Given the description of an element on the screen output the (x, y) to click on. 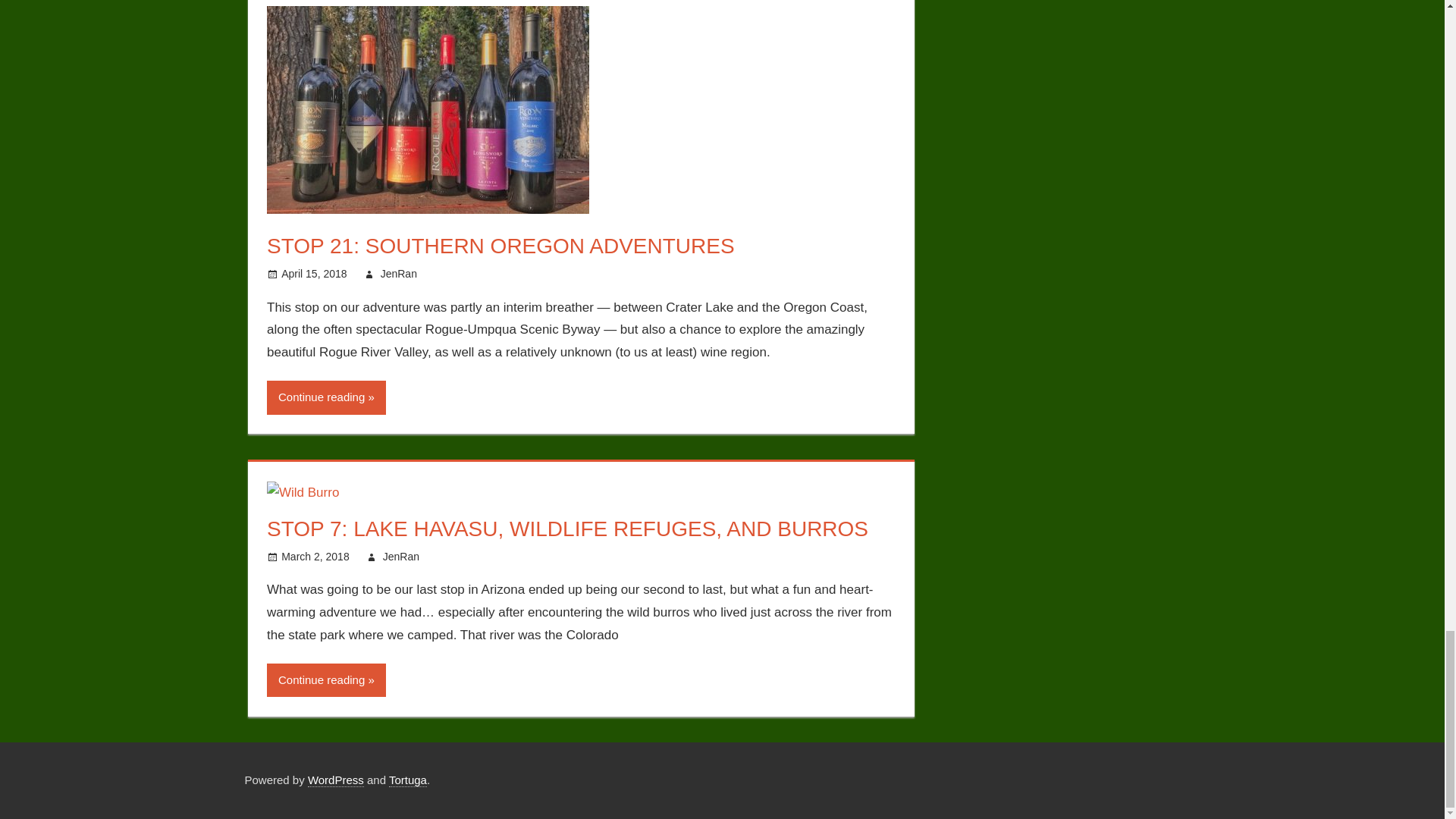
WordPress (335, 780)
View all posts by JenRan (400, 556)
View all posts by JenRan (398, 273)
STOP 21: SOUTHERN OREGON ADVENTURES (500, 245)
2:09 am (313, 273)
5:11 am (315, 556)
